Given the description of an element on the screen output the (x, y) to click on. 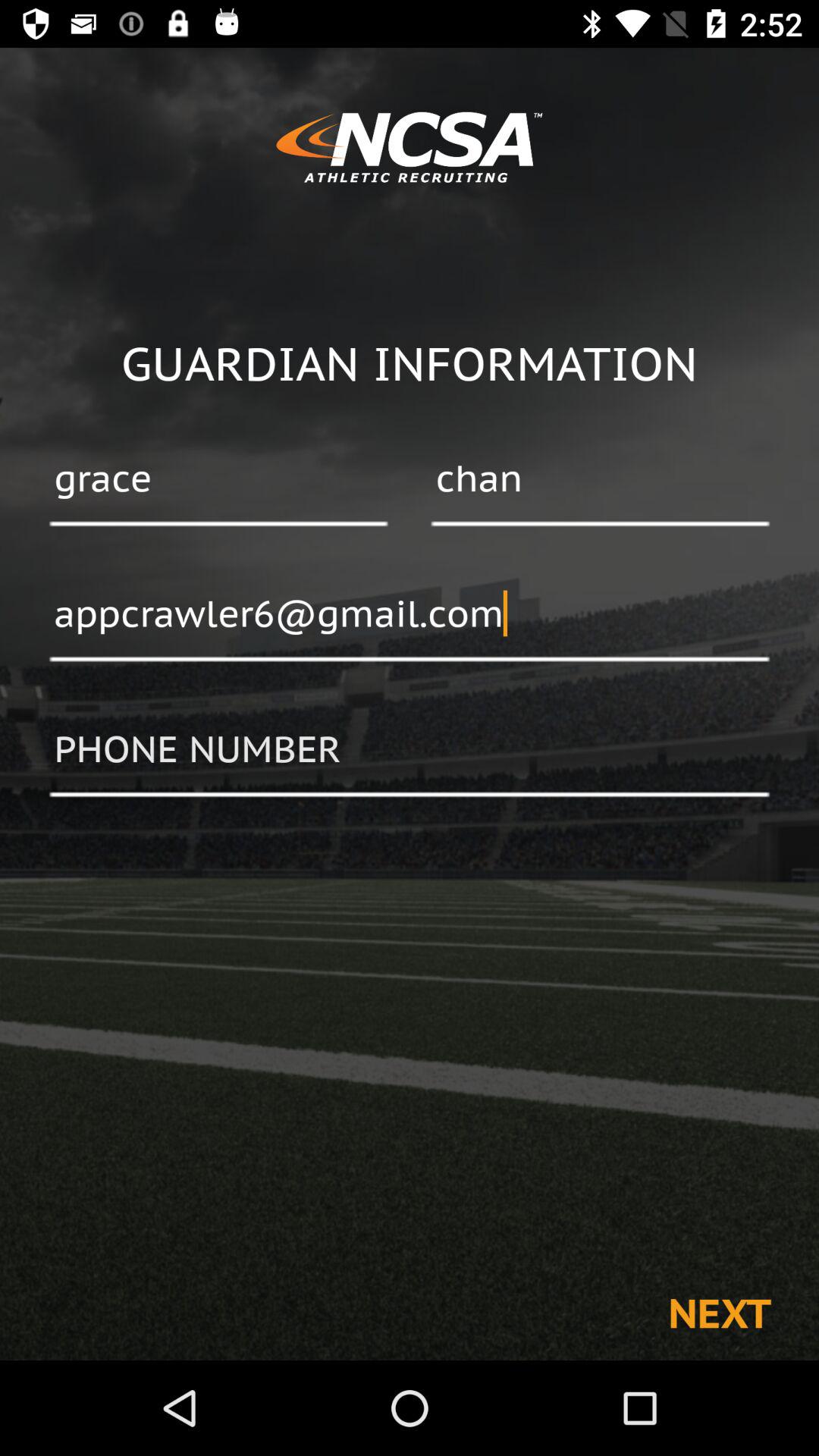
click next at the bottom right corner (719, 1312)
